Given the description of an element on the screen output the (x, y) to click on. 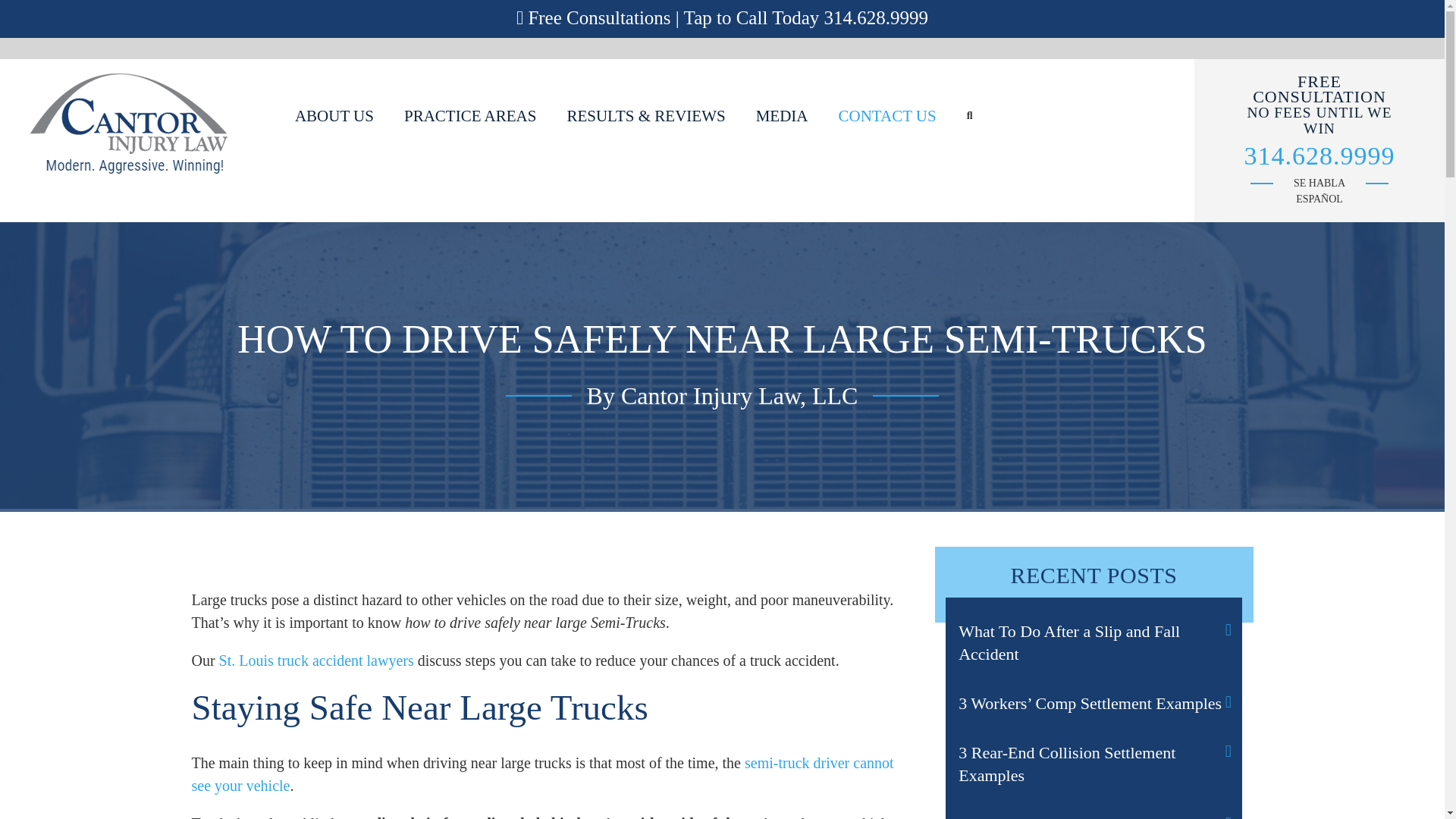
PRACTICE AREAS (469, 115)
